Given the description of an element on the screen output the (x, y) to click on. 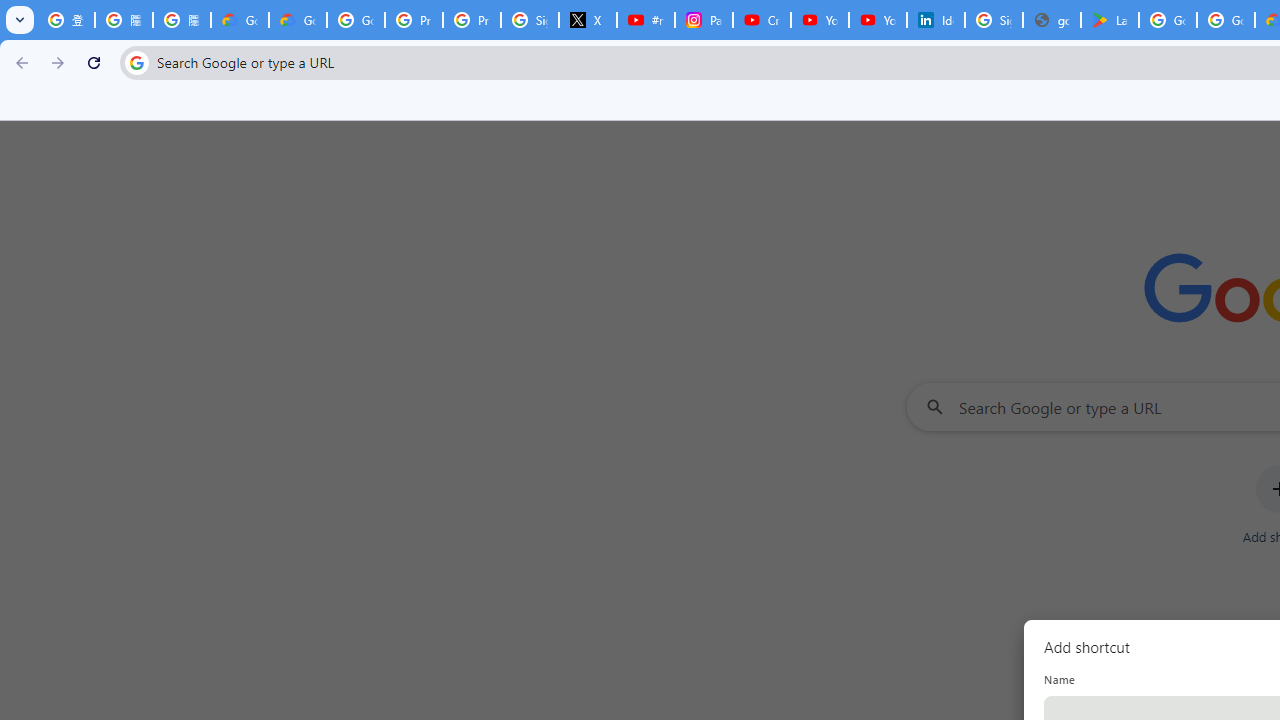
Google Workspace - Specific Terms (1225, 20)
YouTube Culture & Trends - YouTube Top 10, 2021 (877, 20)
Google Cloud Privacy Notice (239, 20)
